Given the description of an element on the screen output the (x, y) to click on. 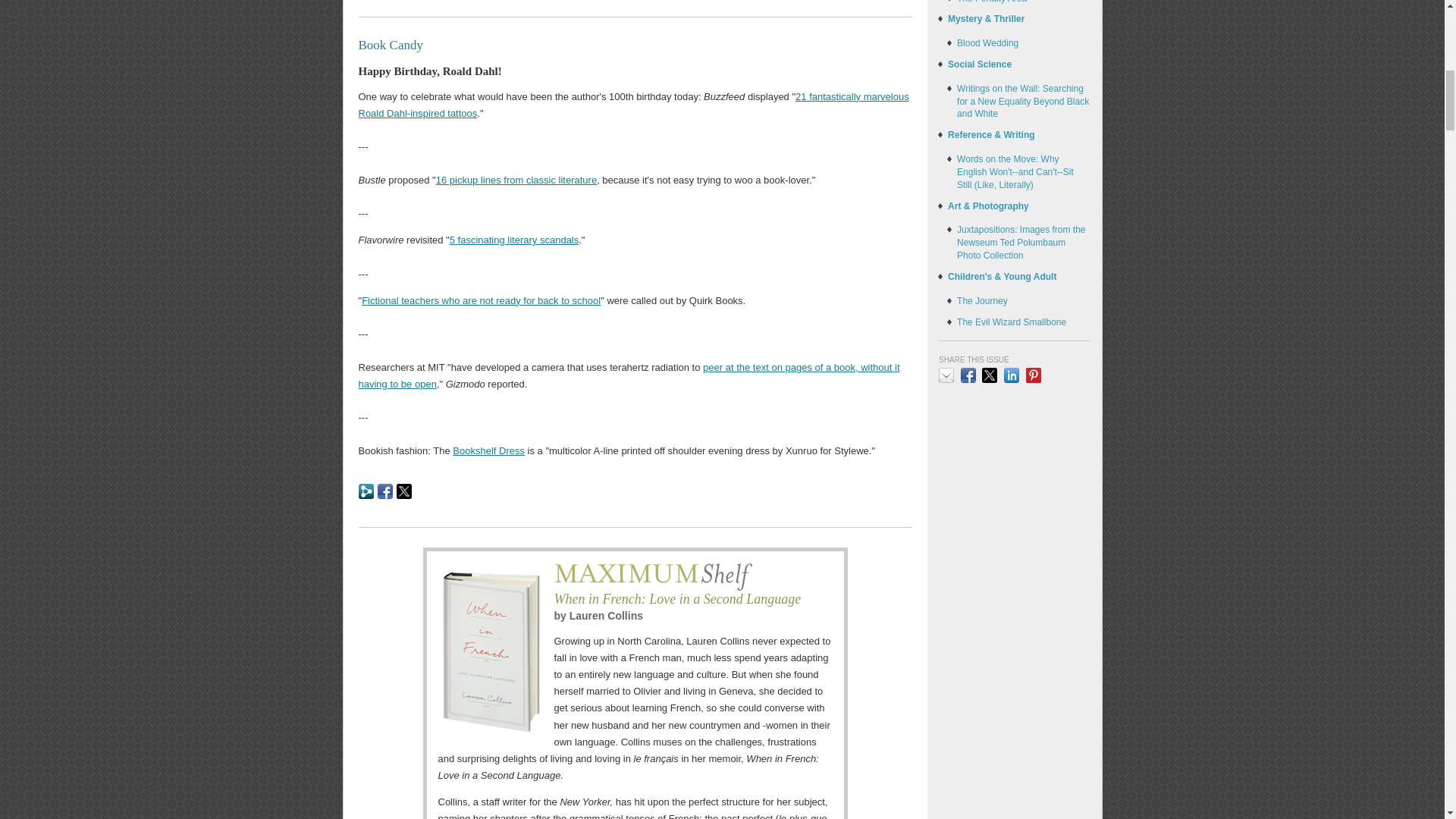
Facebook (385, 490)
16 pickup lines from classic literature (515, 179)
Bookshelf Dress (488, 450)
Fictional teachers who are not ready for back to school (480, 300)
Share to Facebook (385, 490)
Share to X (403, 490)
21 fantastically marvelous Roald Dahl-inspired tattoos (633, 104)
X (403, 490)
5 fascinating literary scandals (514, 239)
